Given the description of an element on the screen output the (x, y) to click on. 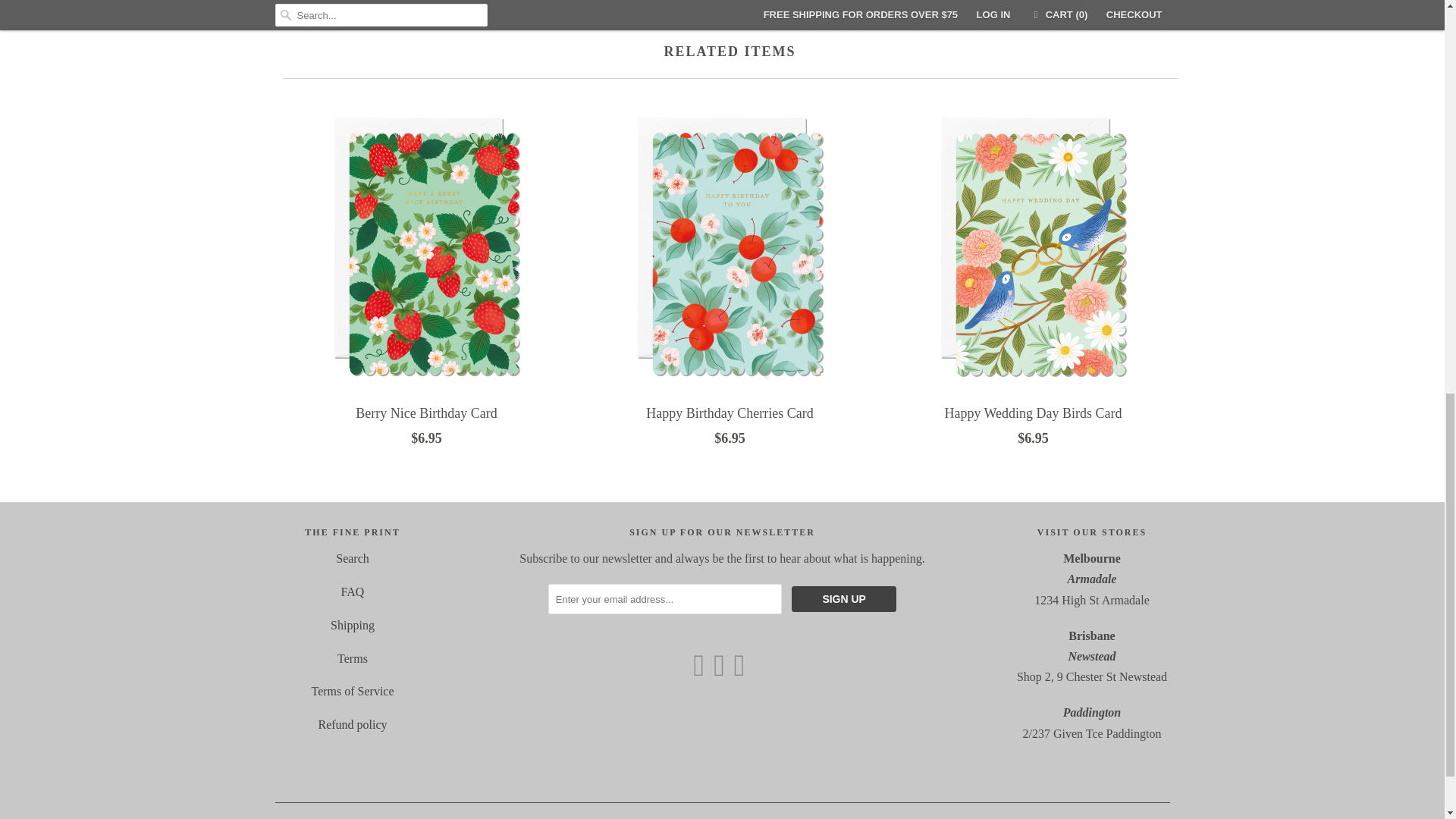
Share this on Twitter (897, 2)
Terms (352, 658)
Sign Up (844, 598)
Share this on Facebook (952, 2)
Shipping (352, 625)
Share this on Pinterest (1005, 2)
FAQ (352, 591)
Email this to a friend (1109, 2)
Search (352, 558)
